Given the description of an element on the screen output the (x, y) to click on. 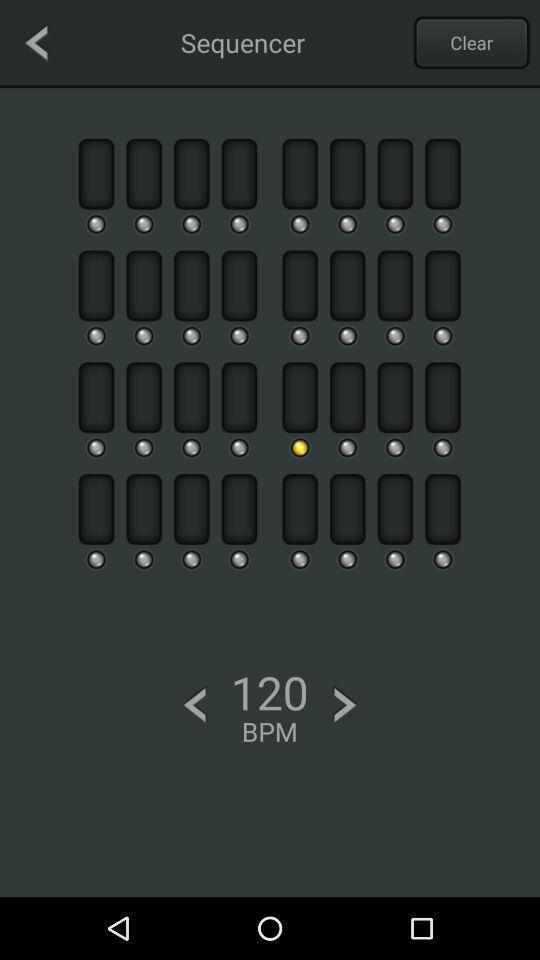
go back (36, 42)
